Given the description of an element on the screen output the (x, y) to click on. 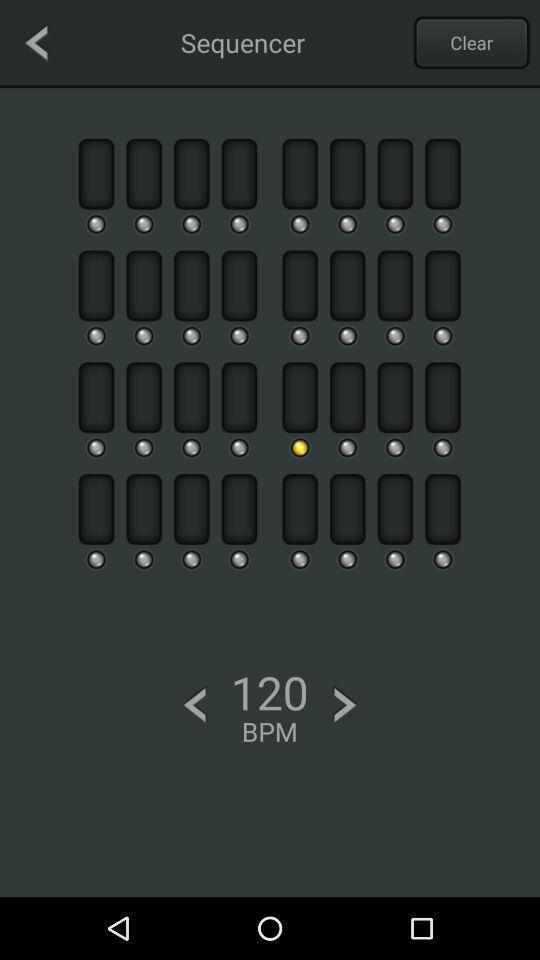
go back (36, 42)
